Given the description of an element on the screen output the (x, y) to click on. 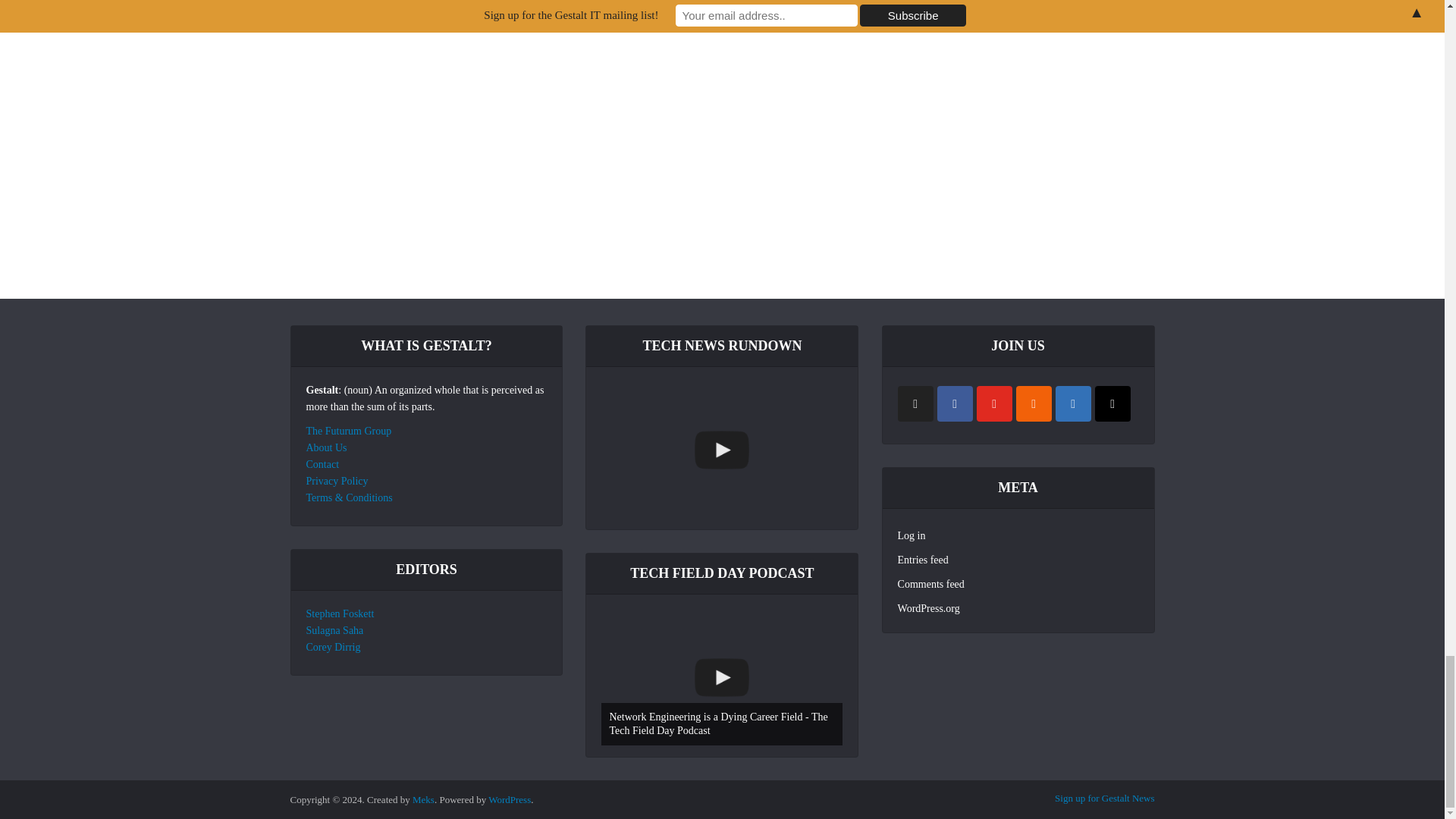
Mail (1112, 403)
Facebook (954, 403)
YouTube (993, 403)
RSS (1033, 403)
Linkedin (1072, 403)
